Given the description of an element on the screen output the (x, y) to click on. 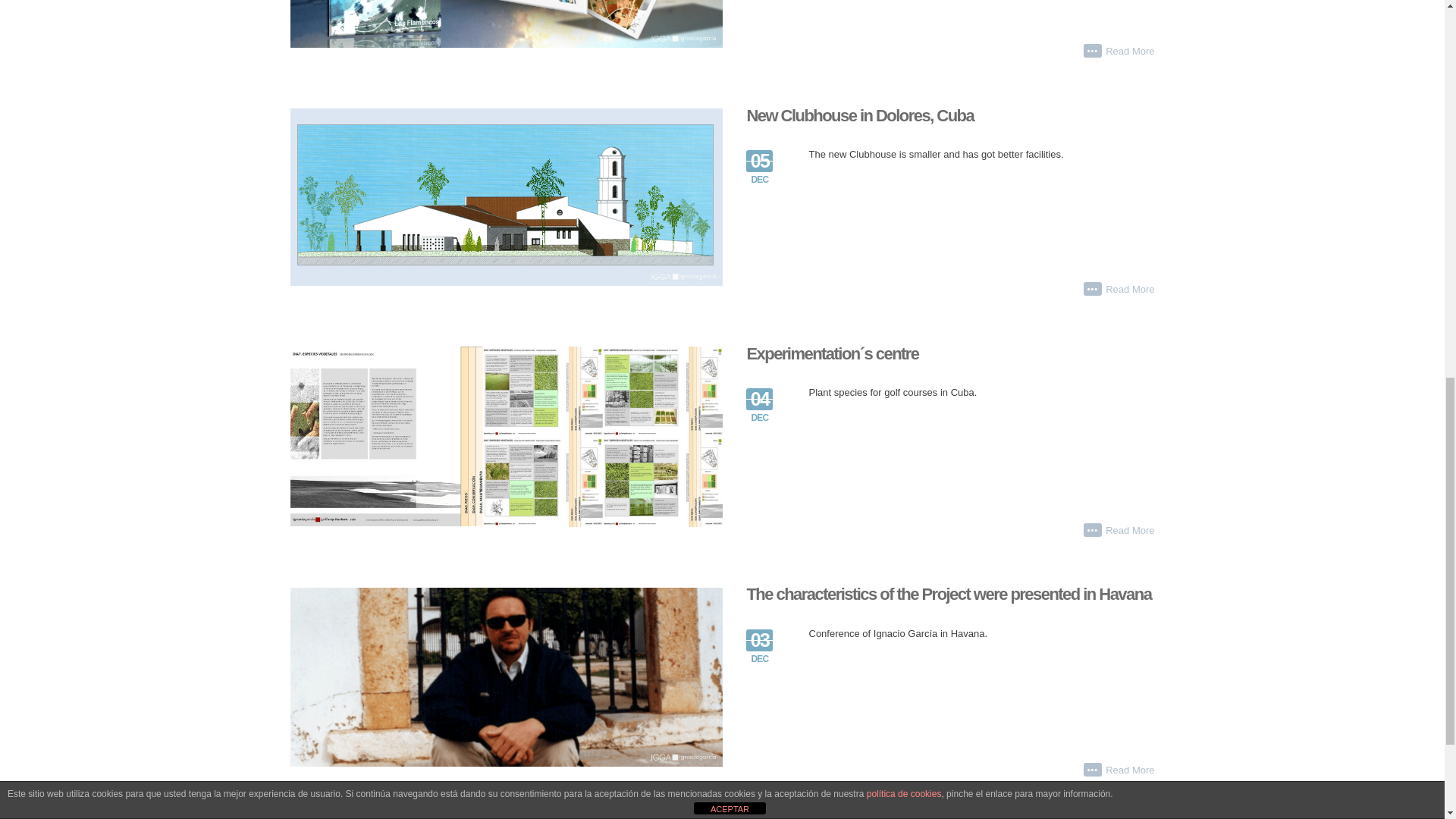
New Clubhouse in Dolores, Cuba (859, 115)
Read More (1129, 51)
Read More (1129, 289)
